Given the description of an element on the screen output the (x, y) to click on. 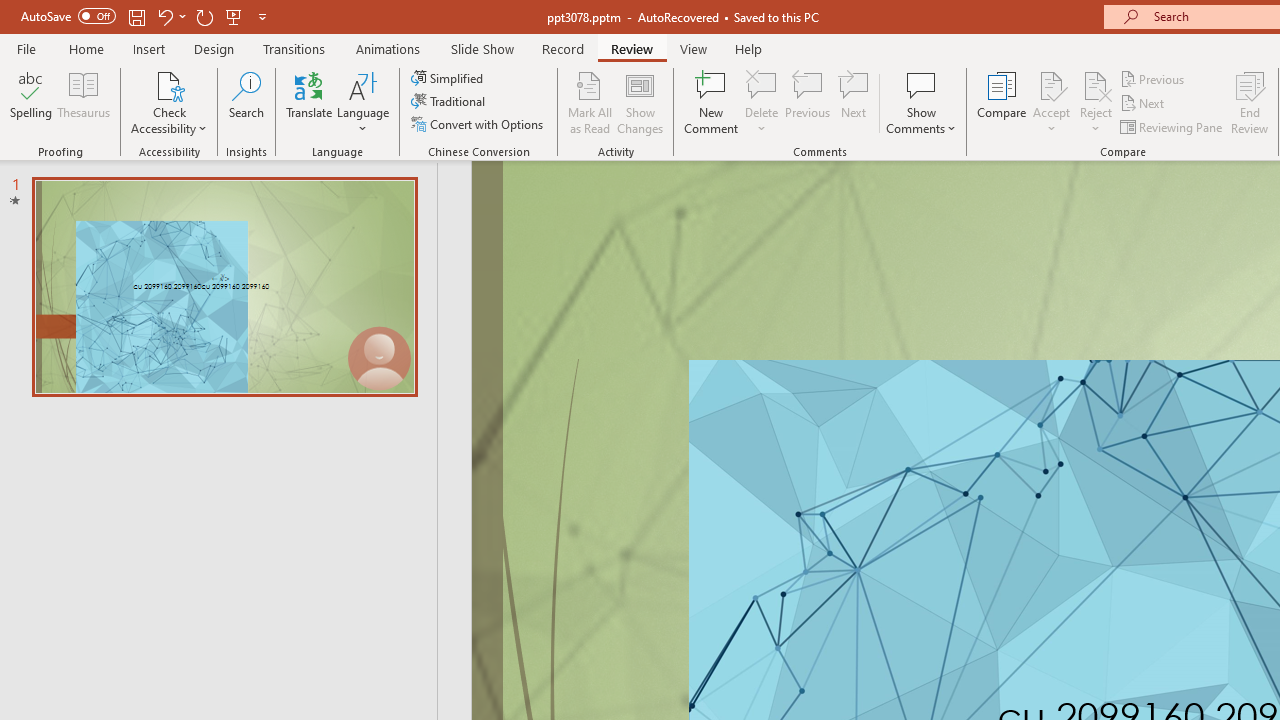
Reject Change (1096, 84)
Simplified (449, 78)
Compare (1002, 102)
Show Comments (921, 102)
Spelling... (31, 102)
Slide (224, 286)
Delete (762, 84)
Traditional (449, 101)
Check Accessibility (169, 84)
